Given the description of an element on the screen output the (x, y) to click on. 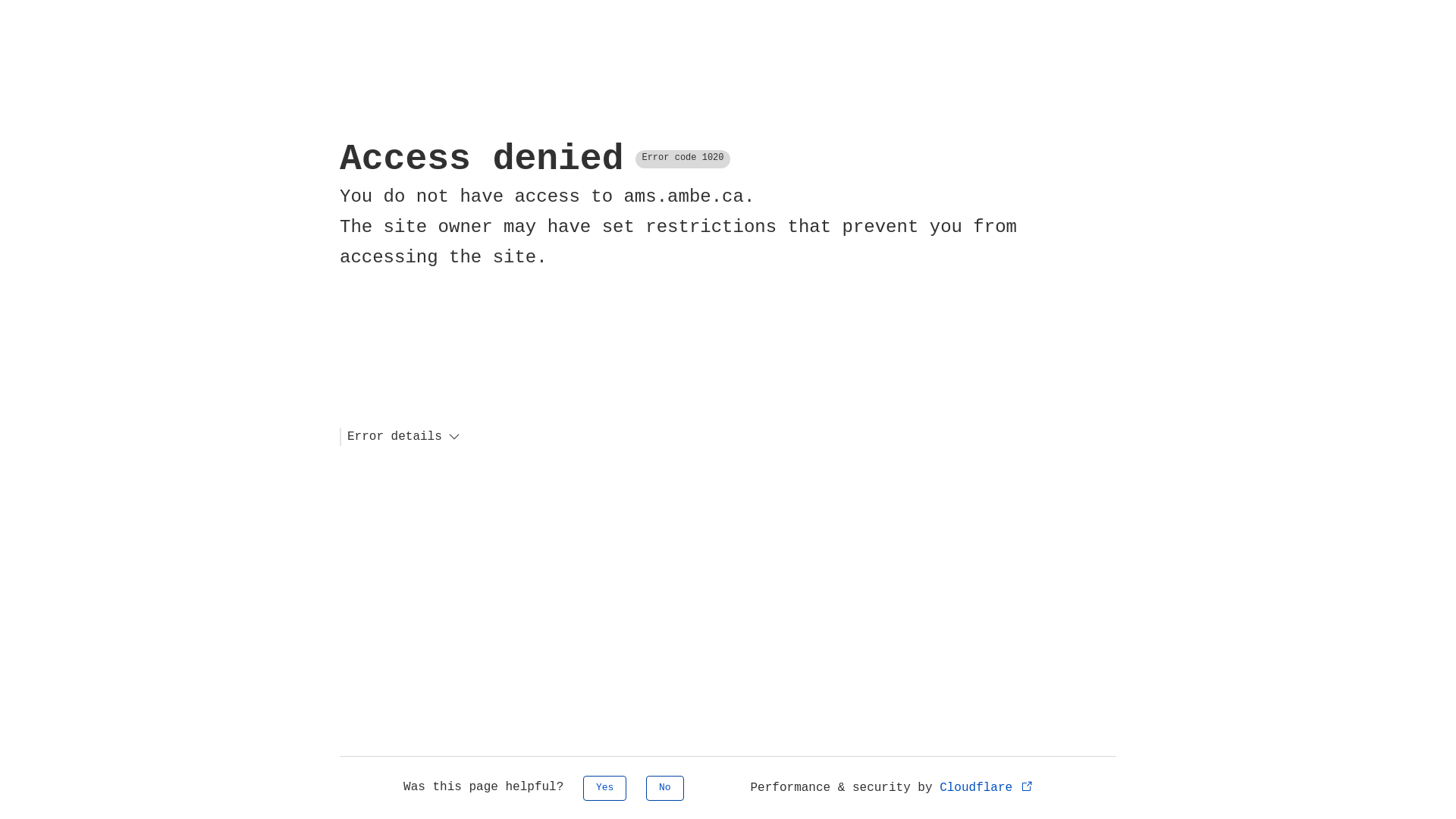
Opens in new tab Element type: hover (1027, 785)
Cloudflare Element type: text (986, 787)
No Element type: text (665, 787)
Yes Element type: text (604, 787)
